Given the description of an element on the screen output the (x, y) to click on. 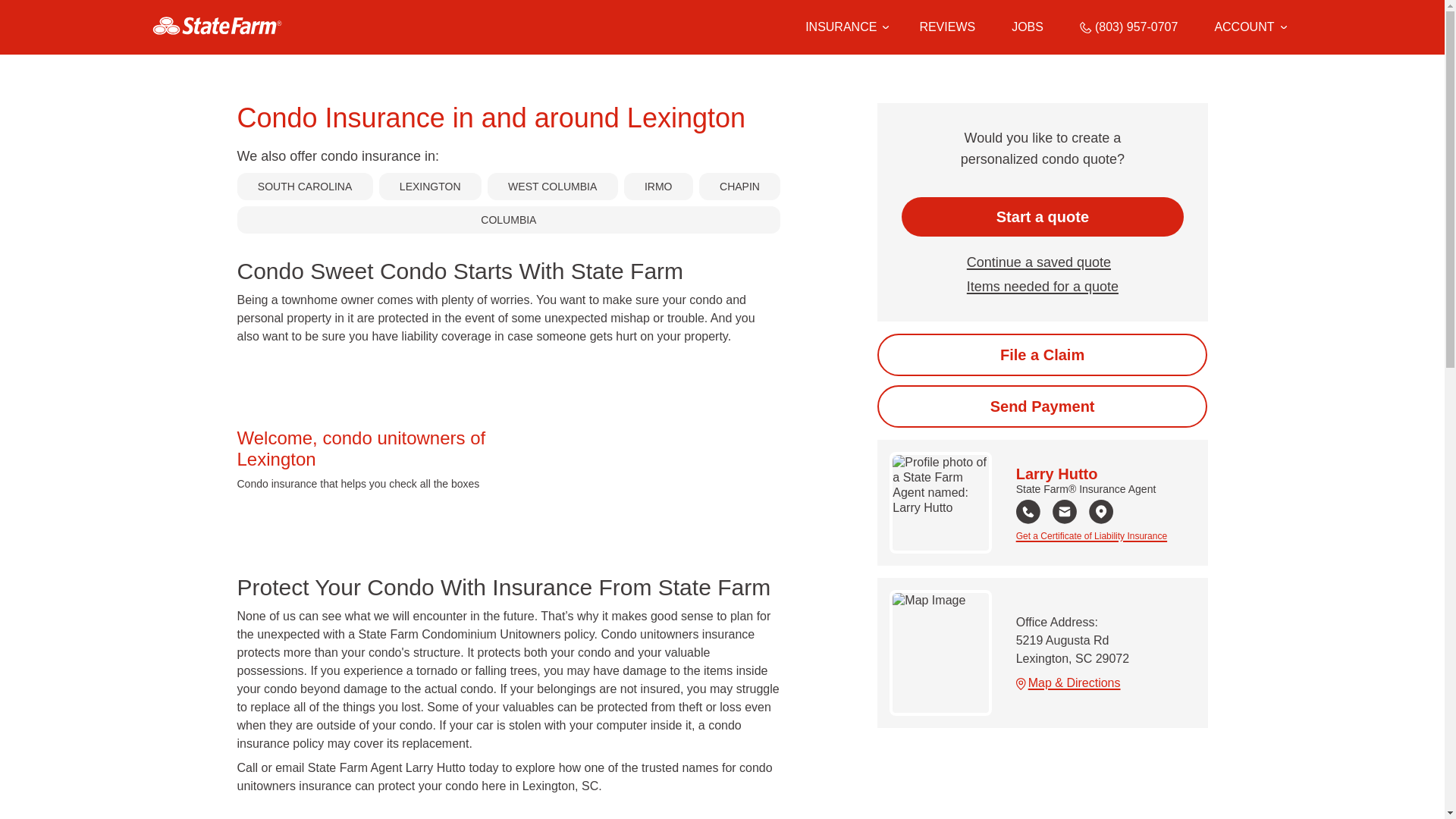
INSURANCE (840, 27)
Account Options (1250, 27)
Start the claim process online (1042, 354)
JOBS (1027, 27)
REVIEWS (946, 27)
Insurance (844, 27)
ACCOUNT (1250, 27)
